Given the description of an element on the screen output the (x, y) to click on. 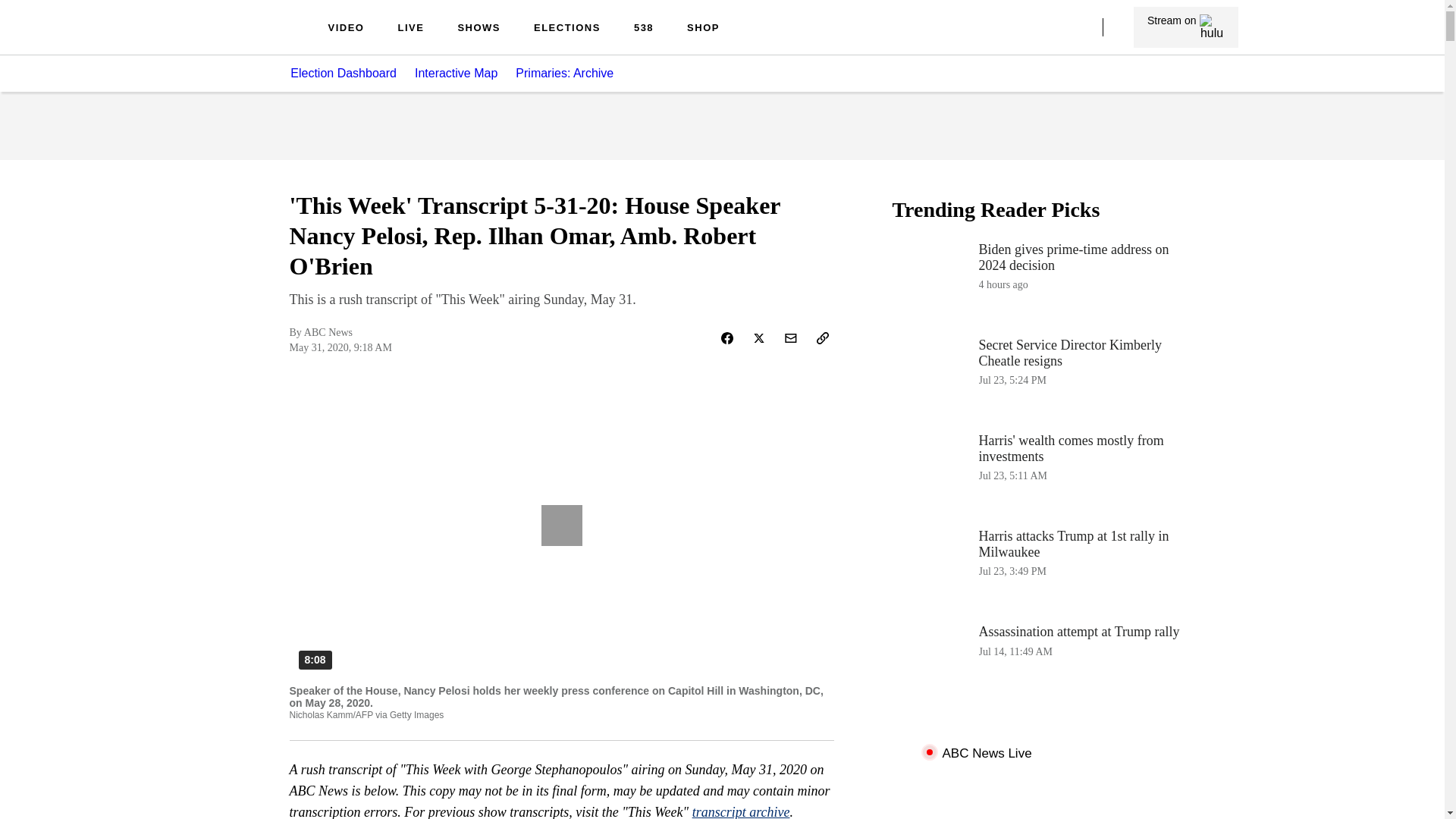
Primaries: Archive (1043, 471)
LIVE (573, 73)
Interactive Map (410, 28)
Election Dashboard (455, 73)
Stream on (1043, 662)
SHOP (342, 73)
ELECTIONS (1186, 26)
ABC News (703, 28)
transcript archive (566, 28)
SHOWS (1043, 280)
538 (250, 38)
